Given the description of an element on the screen output the (x, y) to click on. 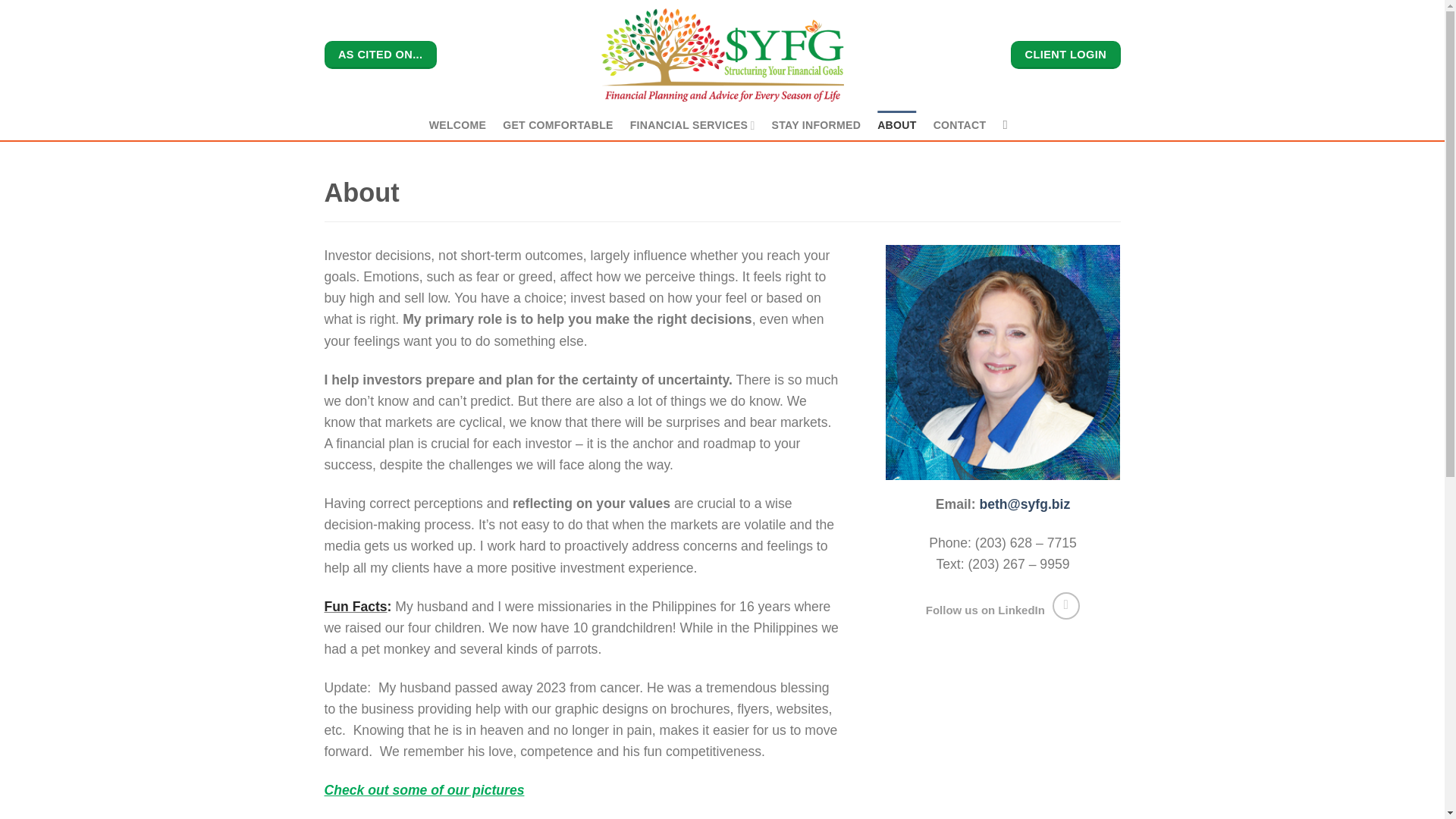
CONTACT (960, 124)
Follow on LinkedIn (1066, 605)
WELCOME (457, 124)
Check out some of our pictures (424, 789)
ABOUT (896, 124)
AS CITED ON... (380, 54)
FINANCIAL SERVICES (692, 125)
STAY INFORMED (816, 124)
CLIENT LOGIN (1064, 54)
SYFG (721, 54)
GET COMFORTABLE (557, 124)
